Given the description of an element on the screen output the (x, y) to click on. 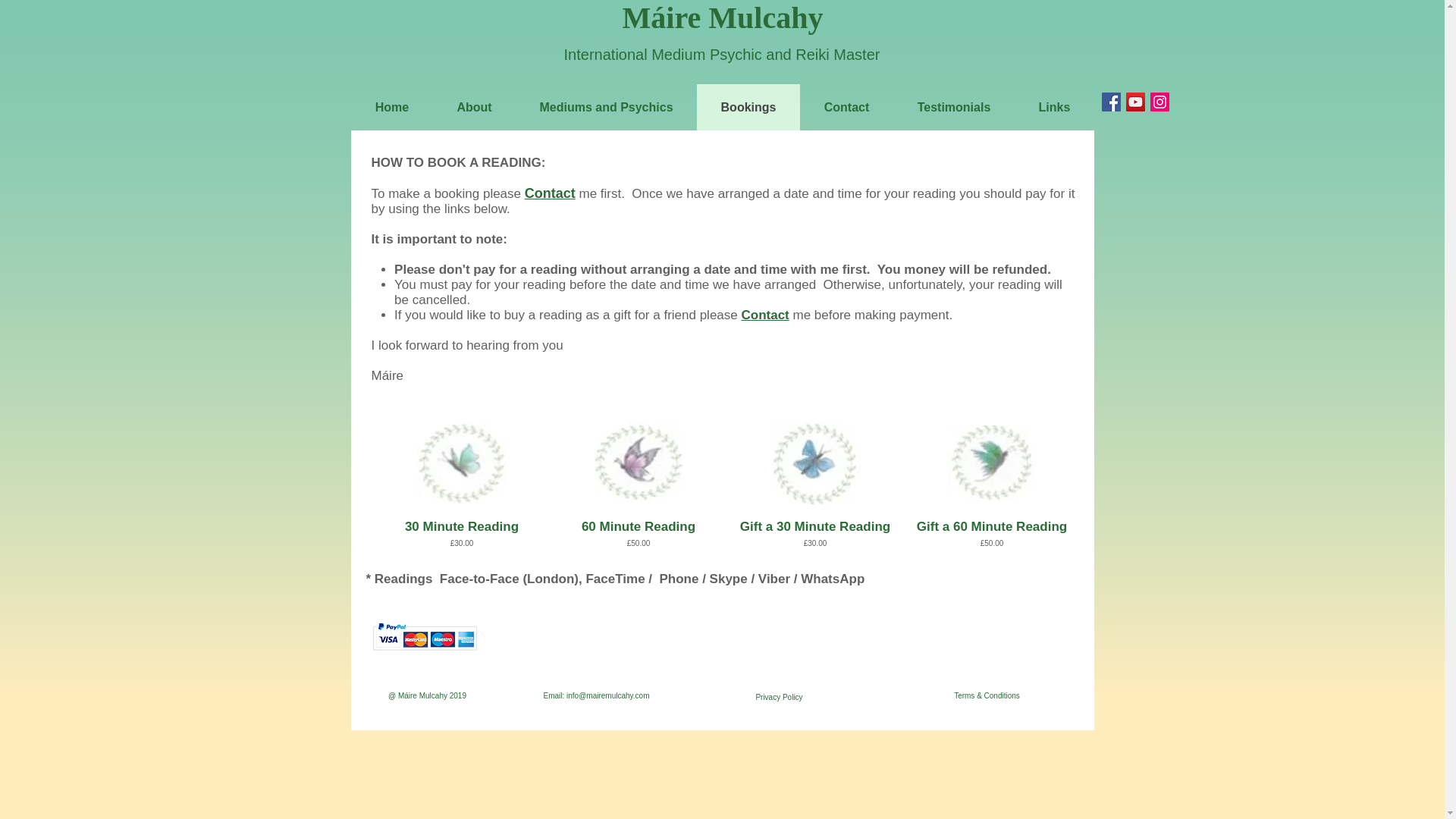
Home (392, 107)
Testimonials (953, 107)
Links (1054, 107)
Contact (845, 107)
About (473, 107)
Mediums and Psychics (606, 107)
Contact (549, 193)
Privacy Policy (778, 697)
Bookings (747, 107)
Contact (765, 314)
